Given the description of an element on the screen output the (x, y) to click on. 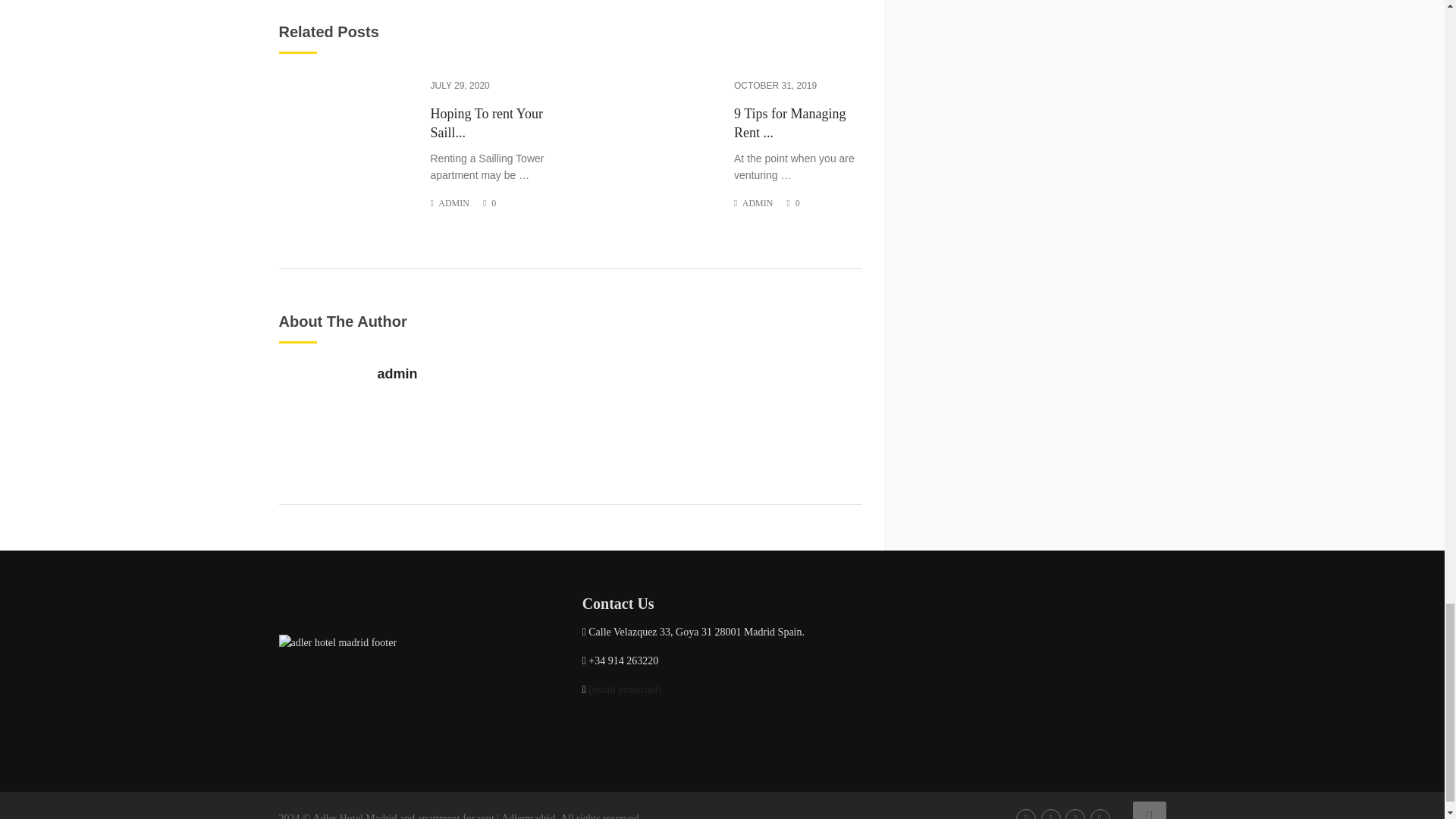
Hoping To rent Your Saill... (494, 123)
0 (494, 203)
0 (796, 203)
ADMIN (757, 203)
9 Tips for Managing Rent as a College Student (797, 123)
9 Tips for Managing Rent ... (797, 123)
admin (397, 373)
Posts by admin (453, 203)
ADMIN (453, 203)
Posts by admin (757, 203)
